Given the description of an element on the screen output the (x, y) to click on. 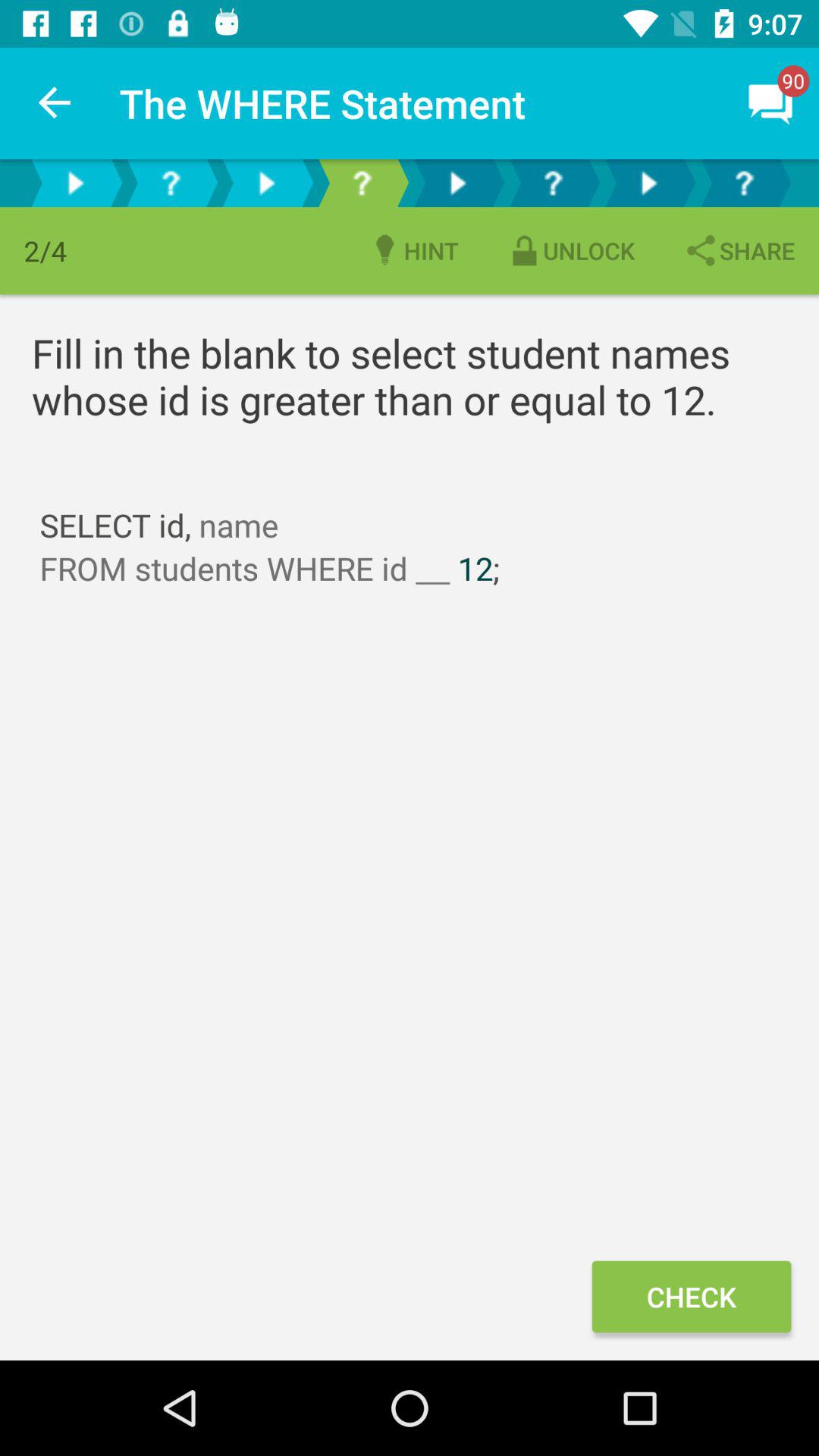
question (552, 183)
